Given the description of an element on the screen output the (x, y) to click on. 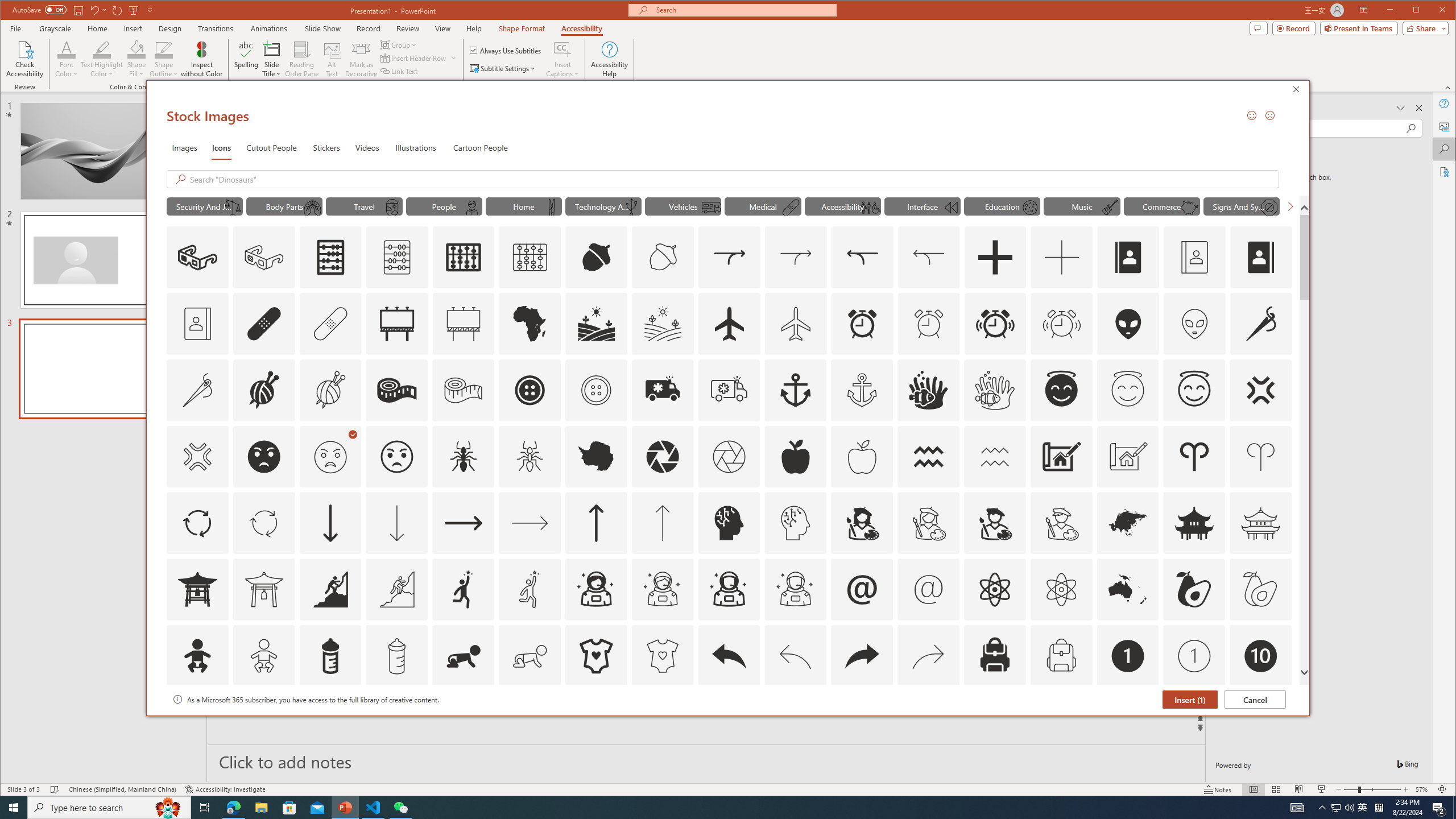
AutomationID: Icons_Back_RTL (861, 655)
AutomationID: Icons_ArrowCircle (197, 522)
"Education" Icons. (1001, 206)
AutomationID: Icons_Lungs_M (311, 207)
"Signs And Symbols" Icons. (1241, 206)
AutomationID: Icons_Aperture_M (729, 456)
AutomationID: Icons_AngerSymbol_M (197, 456)
AutomationID: Icons_Badge3_M (462, 721)
AutomationID: Icons_AstronautFemale (595, 589)
